Given the description of an element on the screen output the (x, y) to click on. 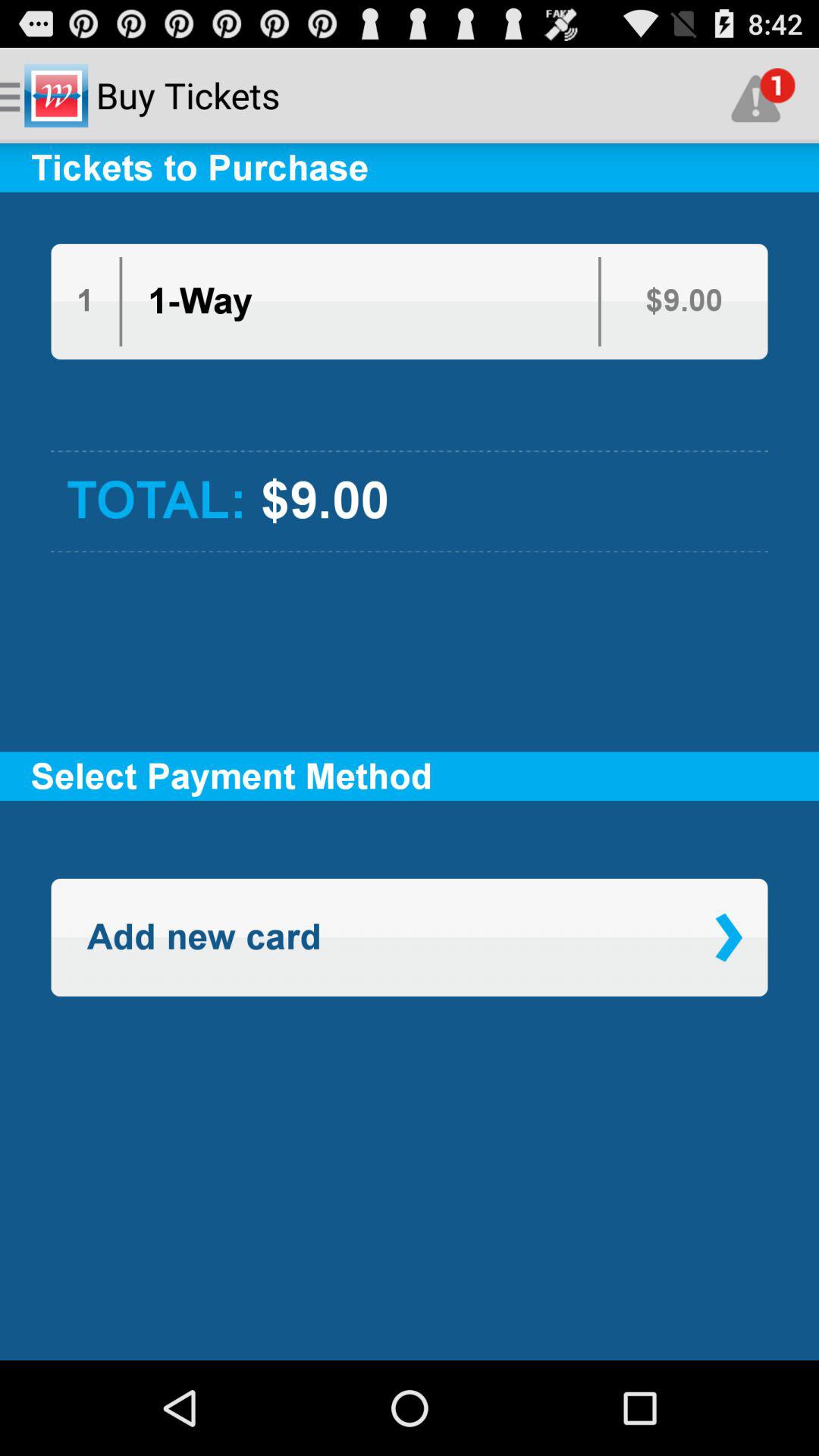
tap the icon above the add new card app (409, 857)
